Given the description of an element on the screen output the (x, y) to click on. 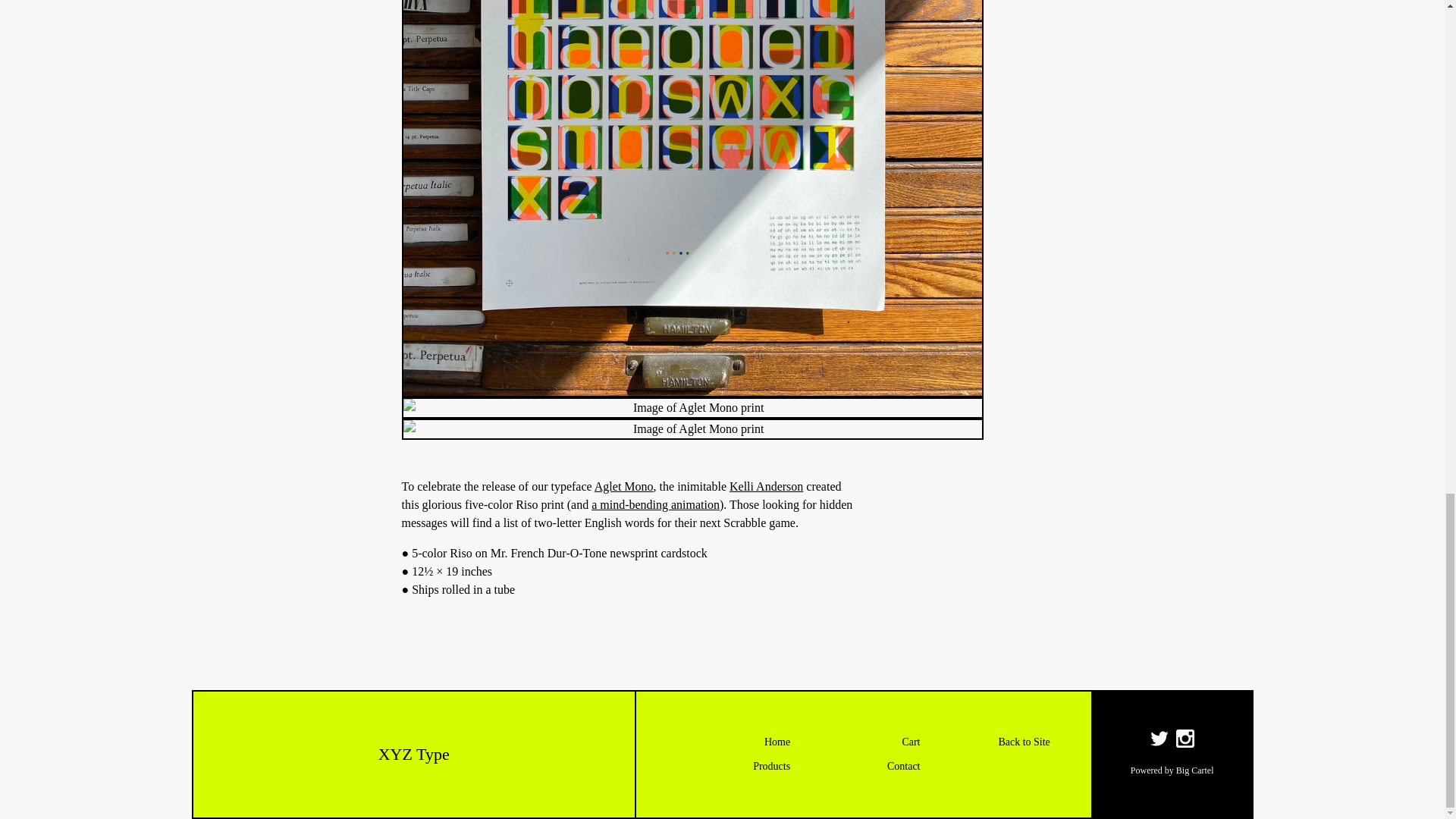
Contact (863, 766)
a mind-bending animation (655, 504)
Products (733, 766)
Kelli Anderson (766, 486)
Contact (863, 766)
Cart (863, 742)
Back to Site (993, 742)
Home (733, 742)
Powered by Big Cartel (1172, 769)
Home (863, 742)
Home (733, 742)
Aglet Mono (623, 486)
Products (733, 766)
